Given the description of an element on the screen output the (x, y) to click on. 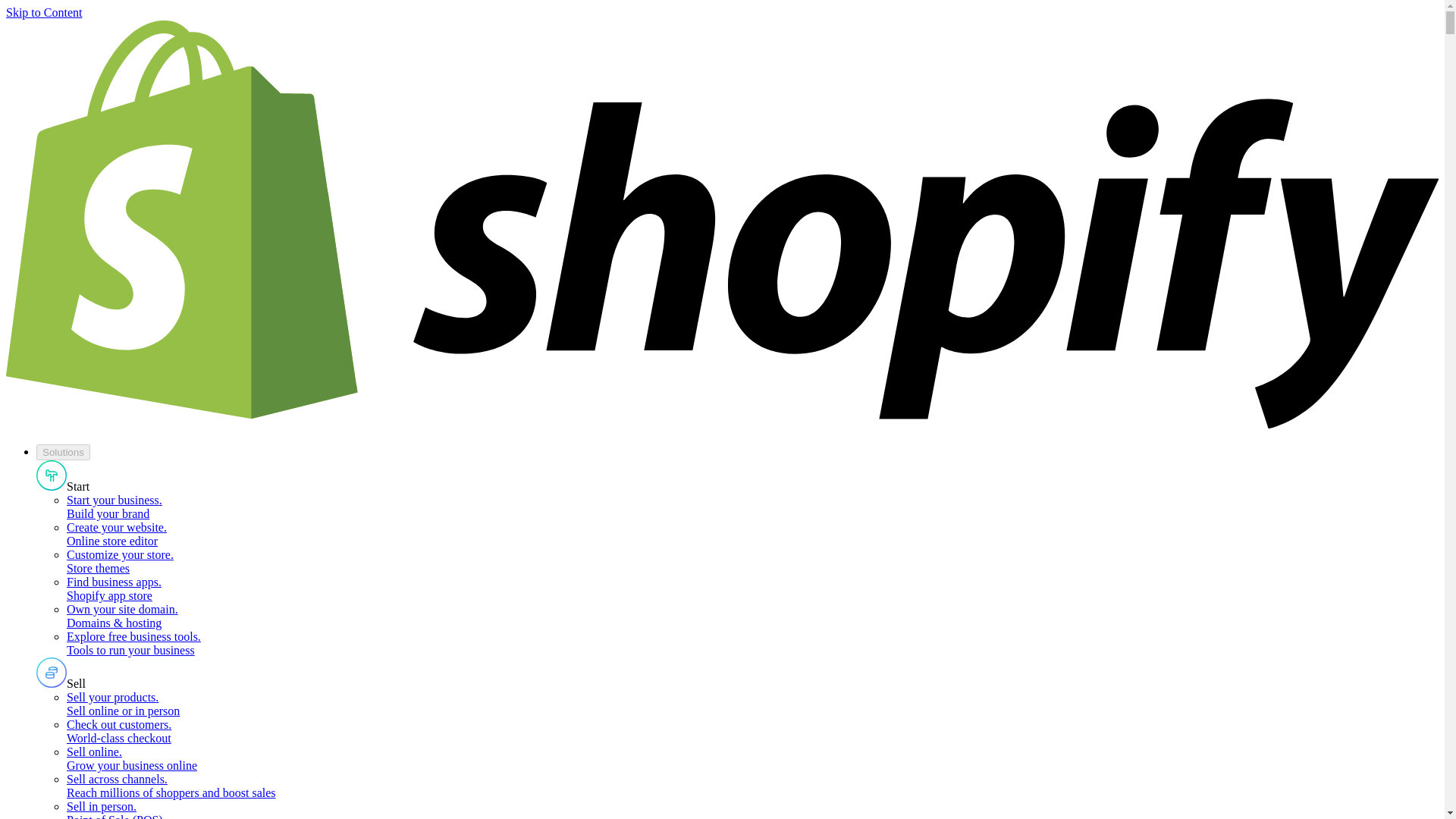
Solutions (63, 452)
Skip to Content (43, 11)
